Given the description of an element on the screen output the (x, y) to click on. 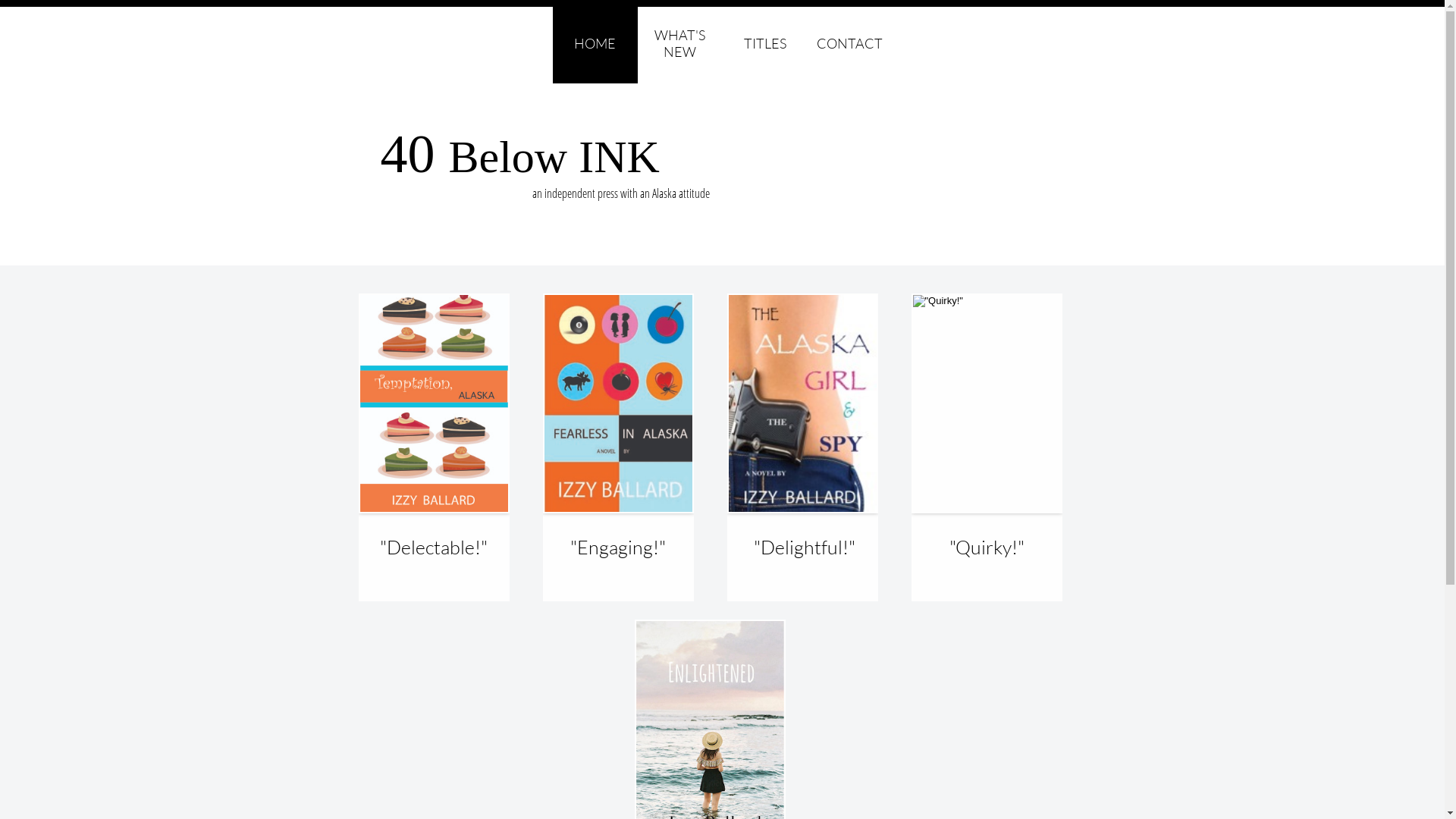
CONTACT Element type: text (848, 43)
TITLES Element type: text (763, 43)
HOME Element type: text (594, 43)
WHAT'S NEW Element type: text (679, 43)
